Given the description of an element on the screen output the (x, y) to click on. 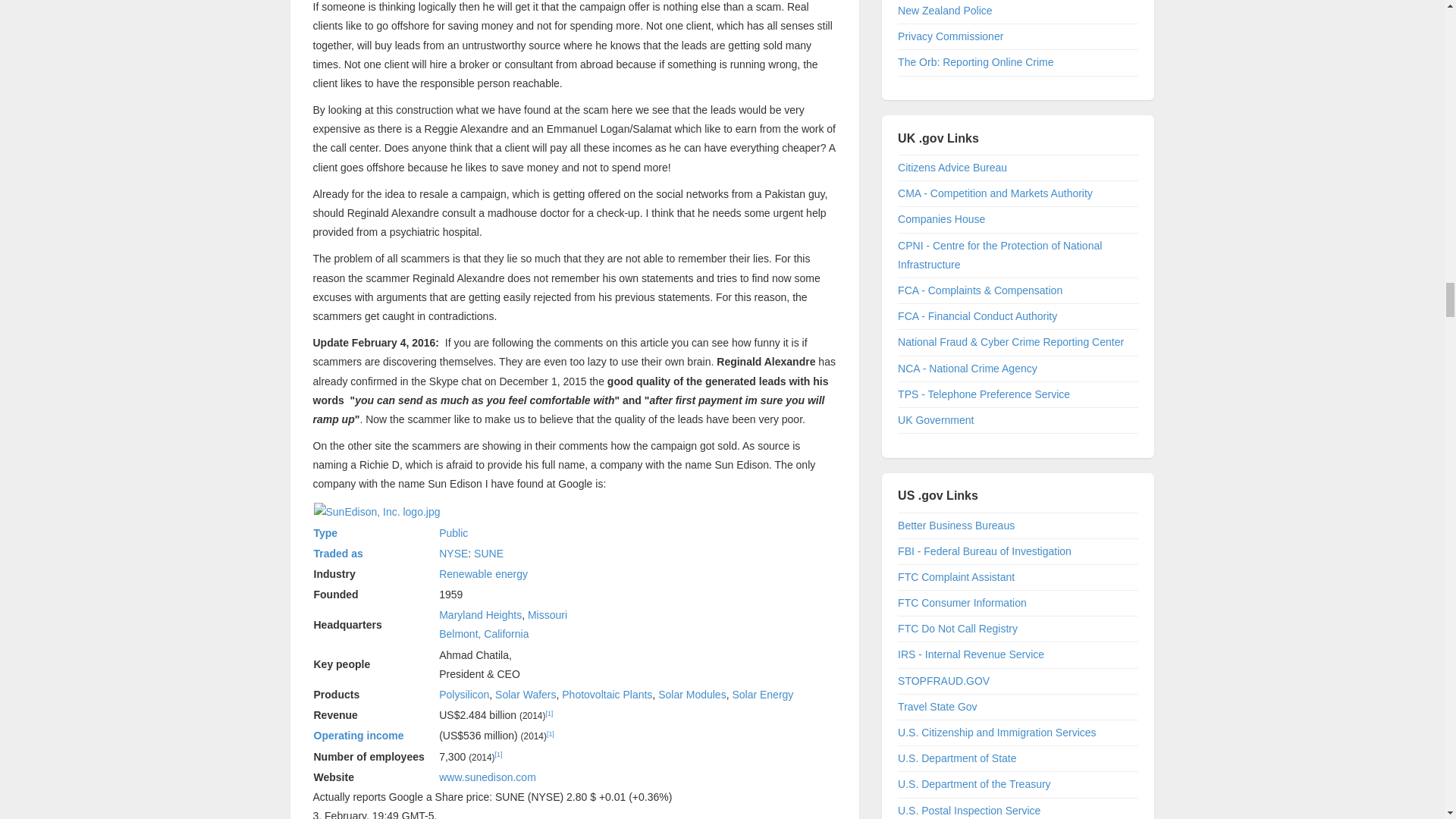
Photovoltaic plant (607, 694)
Earnings before interest and taxes (359, 735)
Renewable energy (483, 573)
Solar module (692, 694)
Solar wafer (525, 694)
Solar Energy (762, 694)
Polysilicon (464, 694)
